Given the description of an element on the screen output the (x, y) to click on. 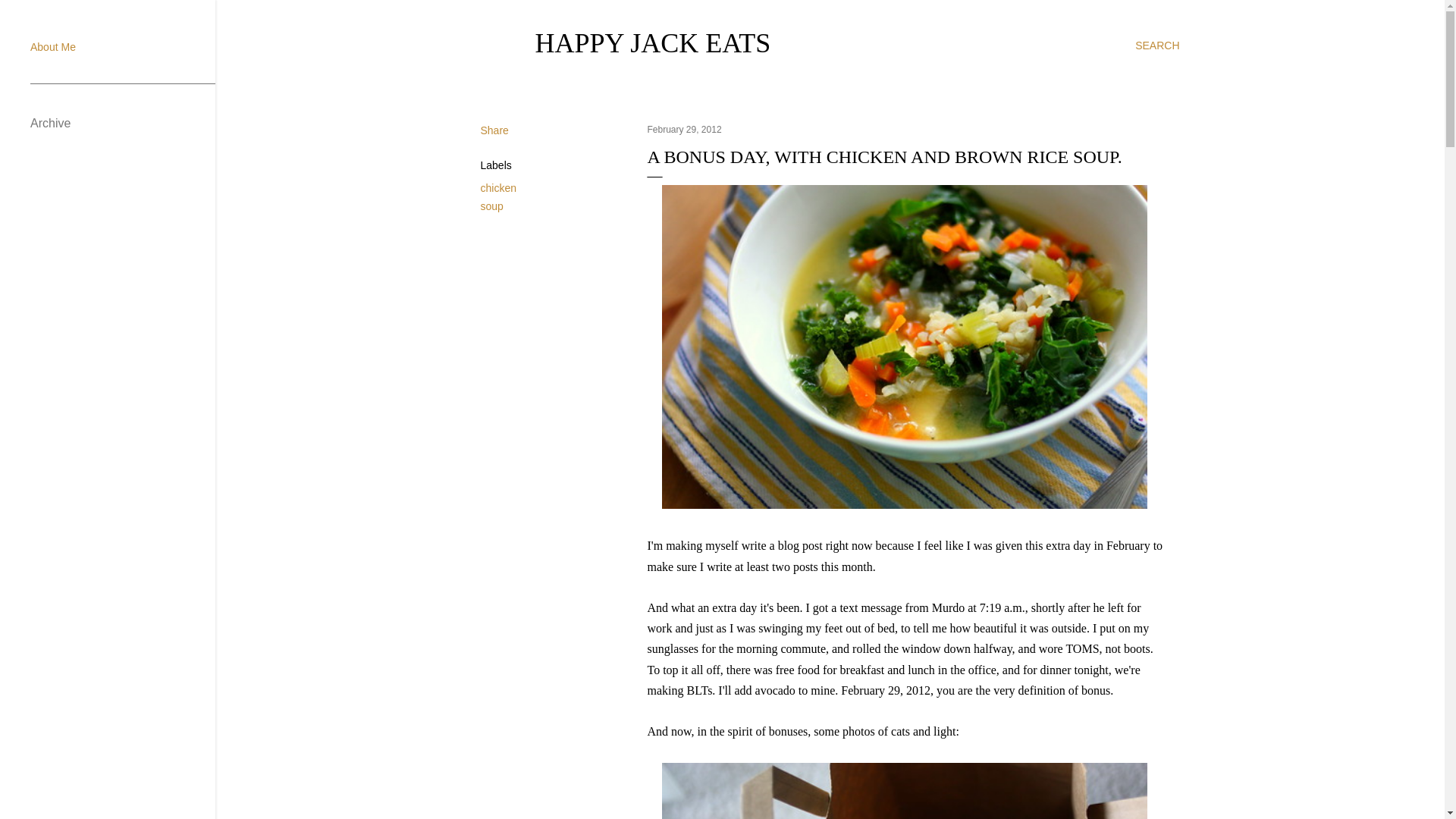
permanent link (684, 129)
Share (494, 130)
SEARCH (1157, 45)
soup (491, 205)
chicken (498, 187)
HAPPY JACK EATS (653, 42)
February 29, 2012 (684, 129)
